Given the description of an element on the screen output the (x, y) to click on. 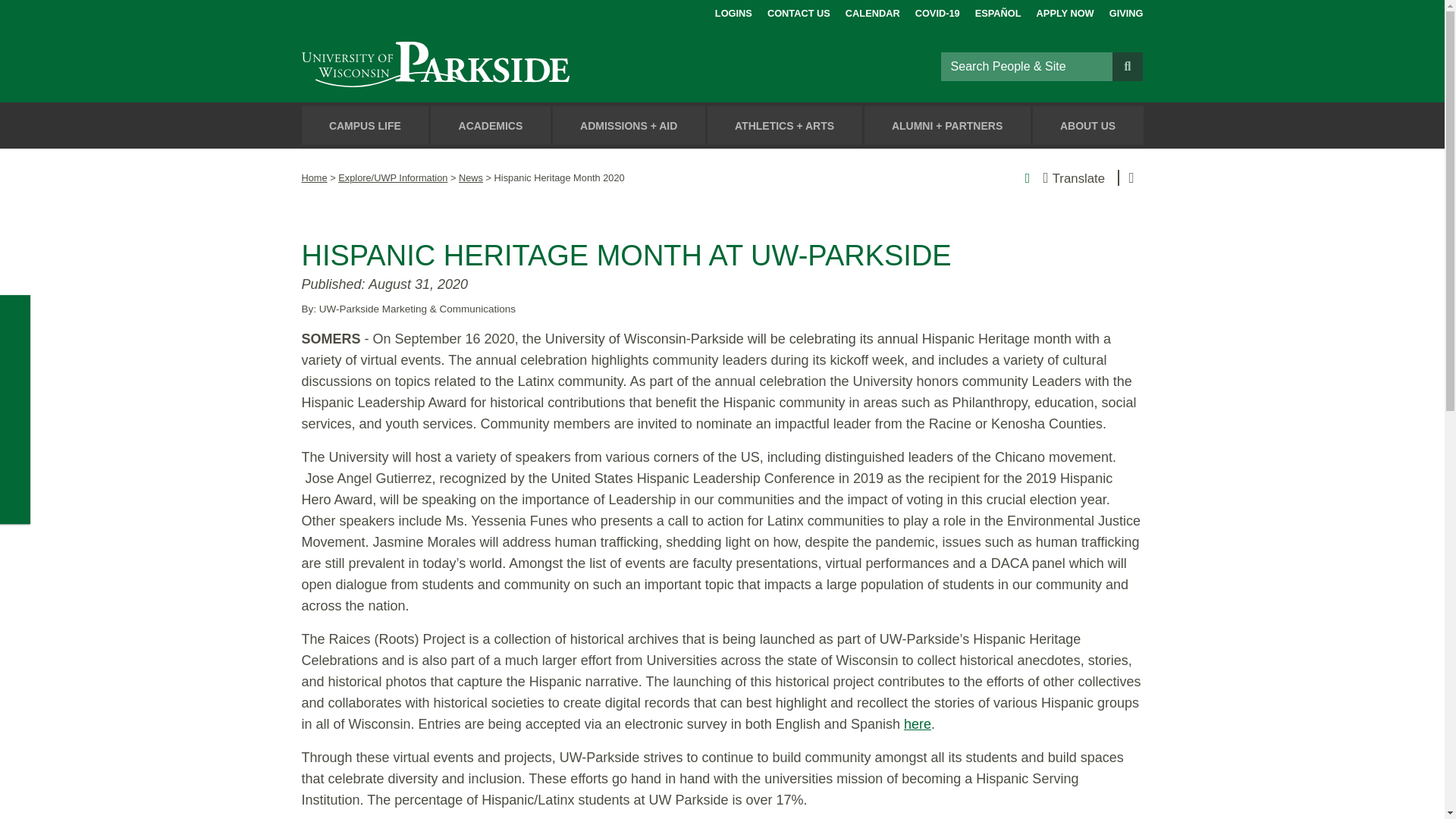
LOGINS (733, 11)
COVID-19 (937, 11)
CONTACT US (798, 11)
GIVING (1125, 11)
Submit (1127, 65)
CALENDAR (872, 11)
University of Wisconsin-Parkside (470, 66)
CAMPUS LIFE (365, 125)
APPLY NOW (1065, 11)
Skip to main content (18, 14)
University of Wisconsin-Parkside (470, 66)
